Given the description of an element on the screen output the (x, y) to click on. 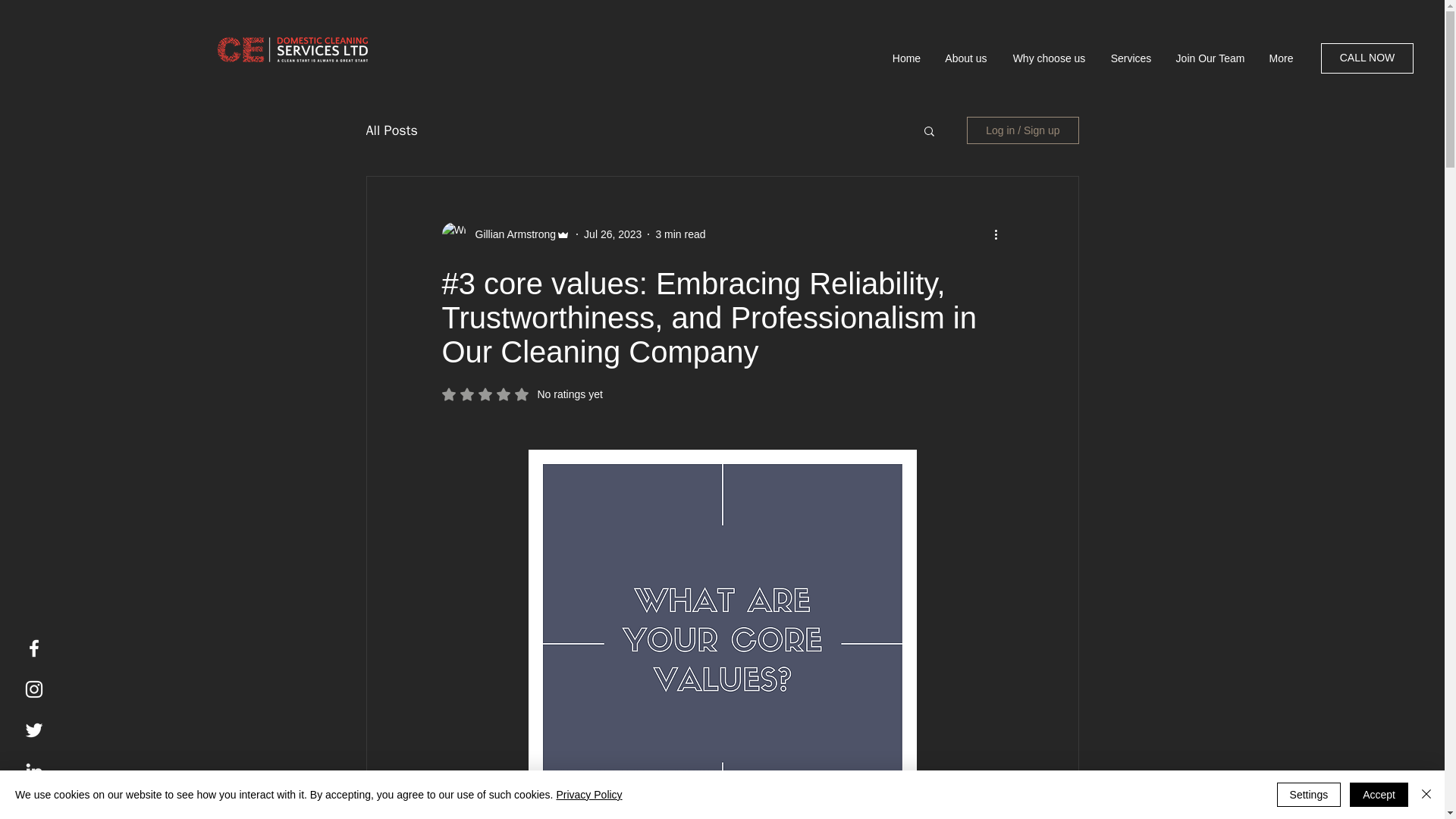
Jul 26, 2023 (612, 233)
About us (965, 57)
Services (521, 394)
All Posts (1131, 57)
Join Our Team (390, 130)
CALL NOW (1210, 57)
3 min read (1366, 58)
Gillian Armstrong (679, 233)
Why choose us (510, 233)
Home (1048, 57)
